Given the description of an element on the screen output the (x, y) to click on. 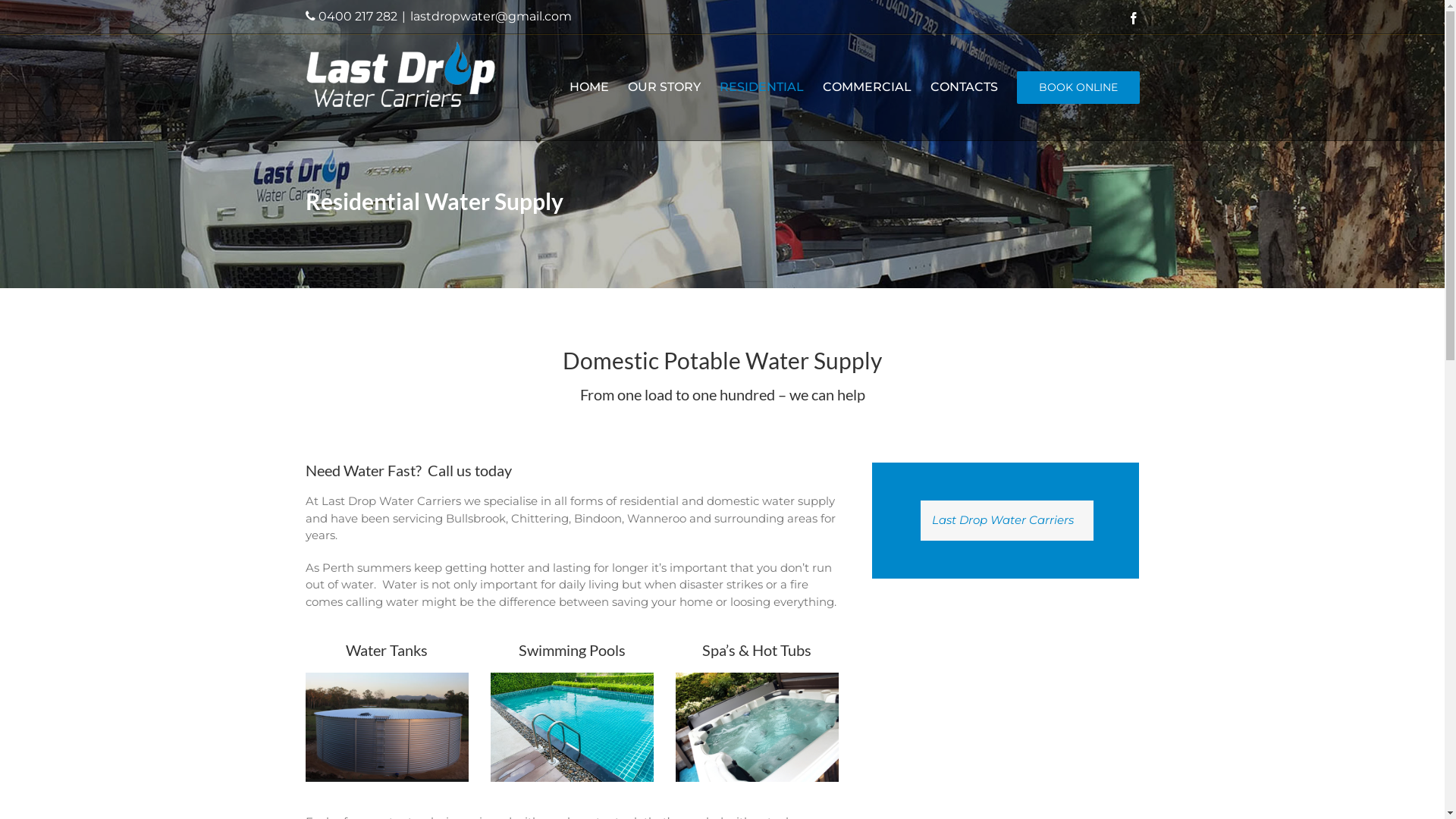
0400 217 282 Element type: text (357, 16)
lastdropwater@gmail.com Element type: text (490, 16)
water-tank-water Element type: hover (386, 726)
OUR STORY Element type: text (663, 87)
Facebook Element type: text (1132, 18)
HOME Element type: text (588, 87)
Last Drop Water Carriers Element type: text (1002, 519)
shutterstock_107333861 Element type: hover (756, 726)
shutterstock_410804308 Element type: hover (571, 726)
CONTACTS Element type: text (963, 87)
RESIDENTIAL Element type: text (760, 87)
BOOK ONLINE Element type: text (1077, 87)
COMMERCIAL Element type: text (866, 87)
